Given the description of an element on the screen output the (x, y) to click on. 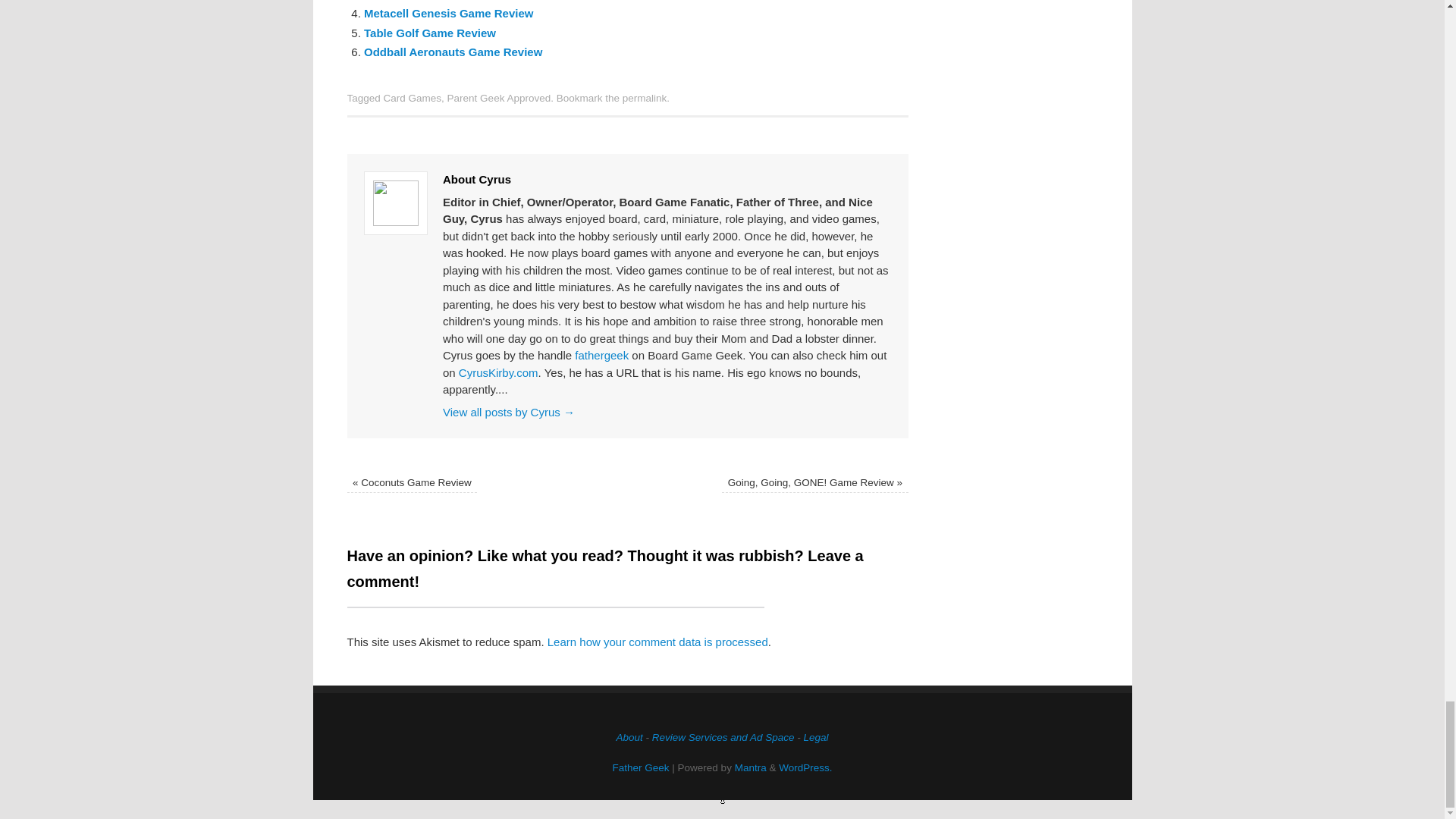
Table Golf Game Review (430, 32)
Metacell Genesis Game Review (448, 12)
Oddball Aeronauts Game Review (452, 51)
Permalink to Mayhem! Game Review (644, 98)
